Given the description of an element on the screen output the (x, y) to click on. 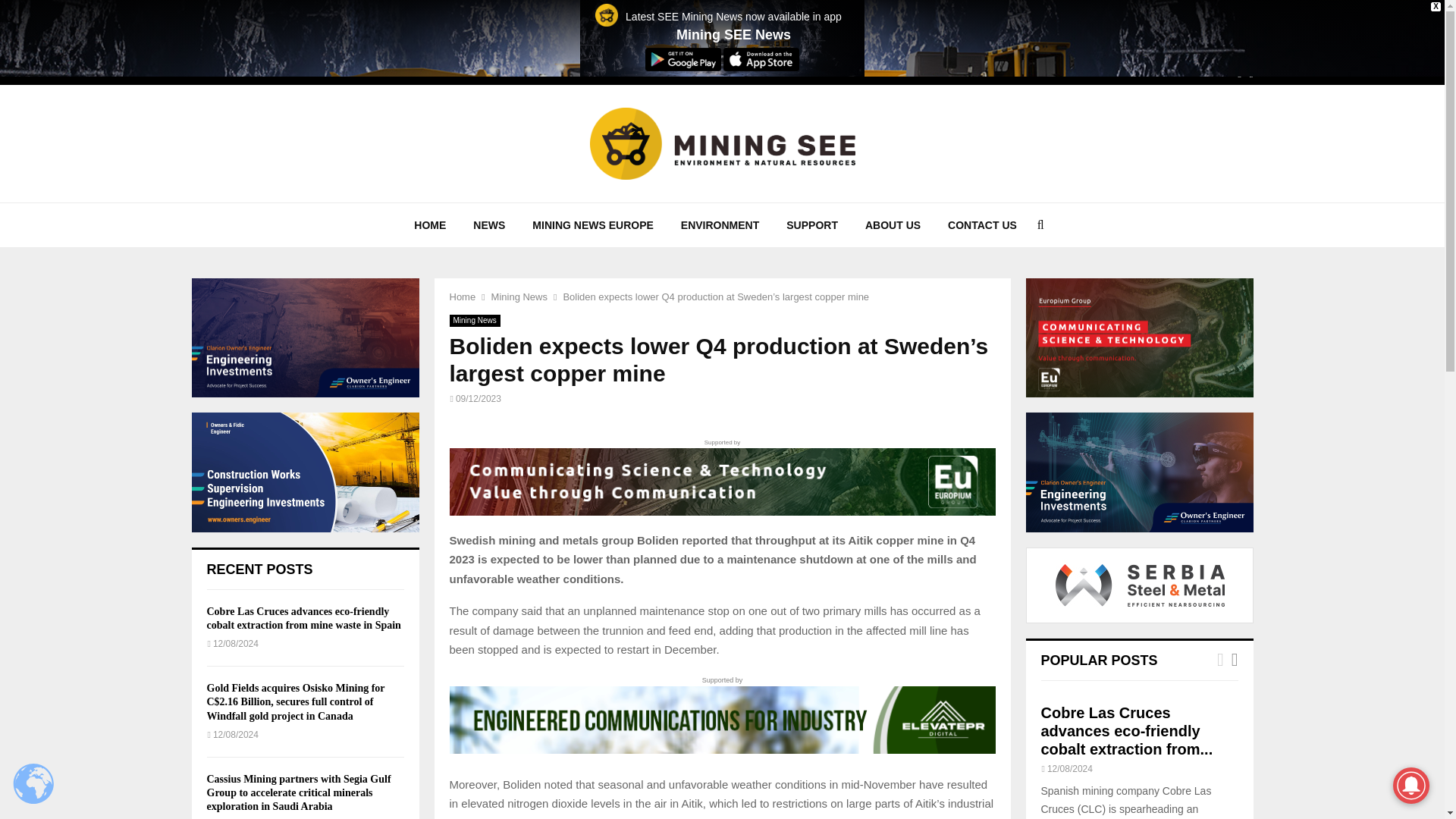
Home (462, 296)
Mining News (473, 320)
CONTACT US (982, 225)
Mining News (519, 296)
ABOUT US (892, 225)
HOME (430, 225)
ENVIRONMENT (719, 225)
NEWS (489, 225)
Supported by (721, 476)
